Given the description of an element on the screen output the (x, y) to click on. 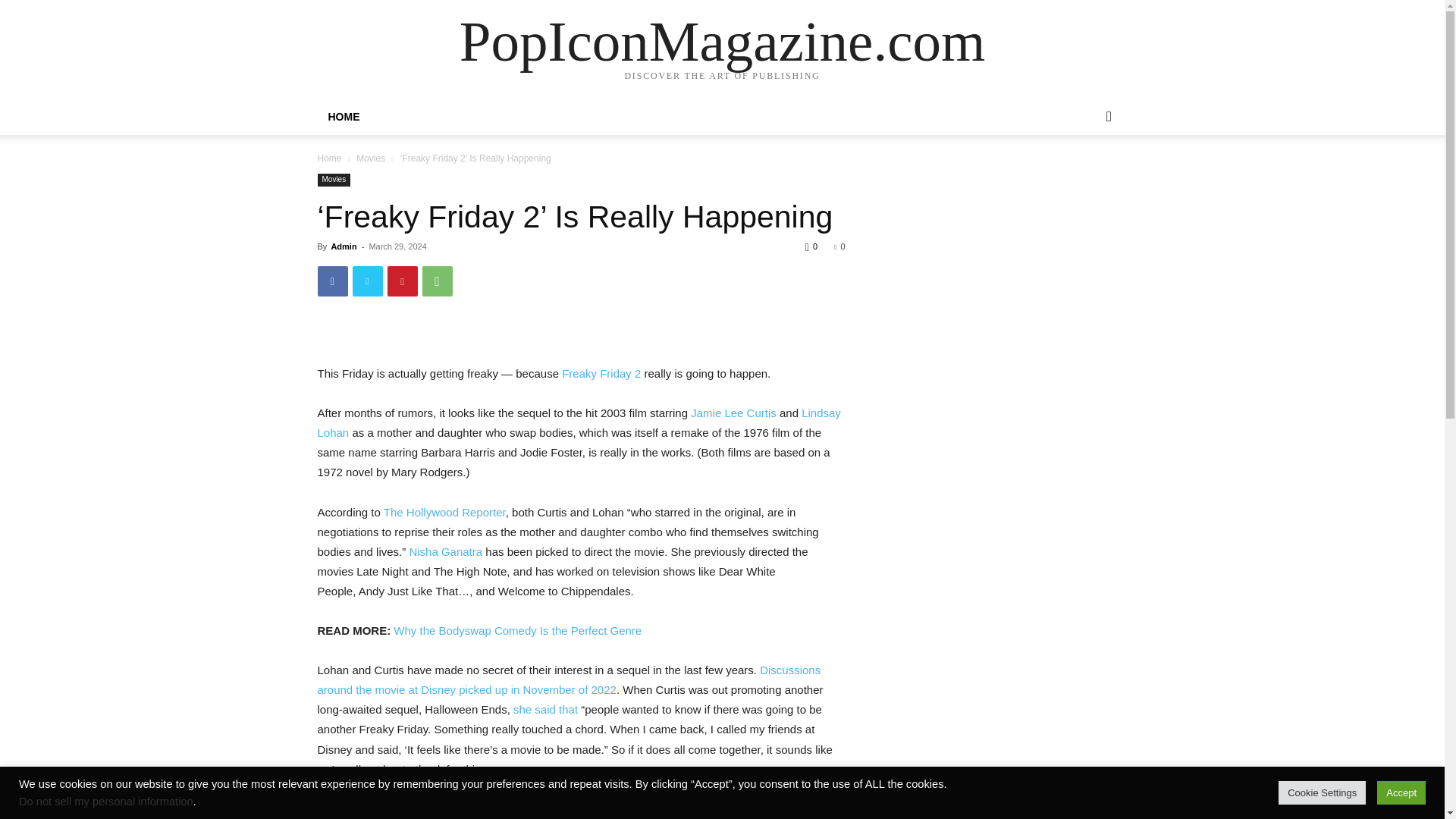
HOME (343, 116)
Jamie Lee Curtis (733, 412)
Admin (343, 245)
PopIconMagazine.com (722, 41)
Movies (333, 179)
Movies (370, 158)
Home (328, 158)
Freaky Friday 2 (601, 373)
0 (839, 245)
Search (1085, 177)
